Given the description of an element on the screen output the (x, y) to click on. 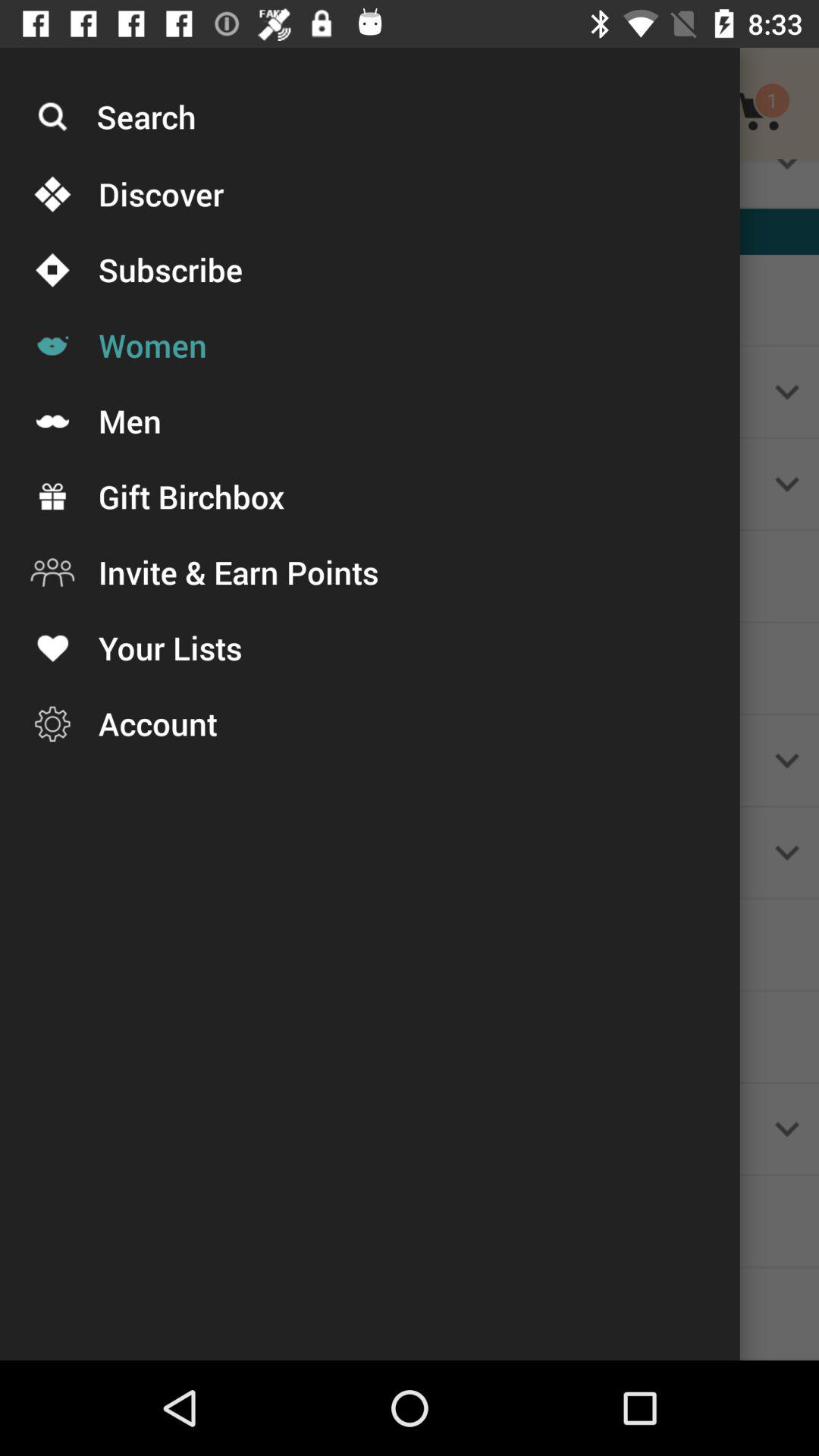
click on third icon from bottom (53, 572)
